Given the description of an element on the screen output the (x, y) to click on. 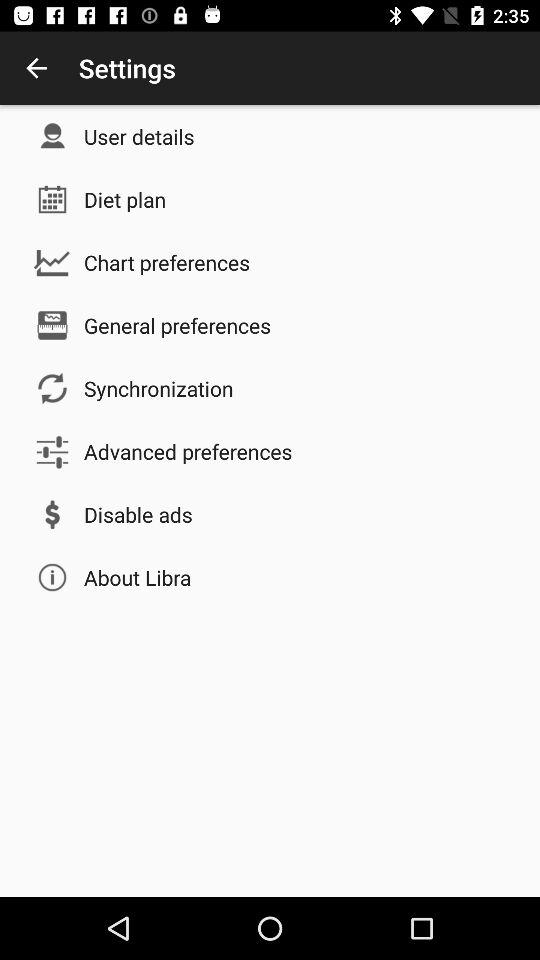
launch the icon below the general preferences (158, 388)
